Given the description of an element on the screen output the (x, y) to click on. 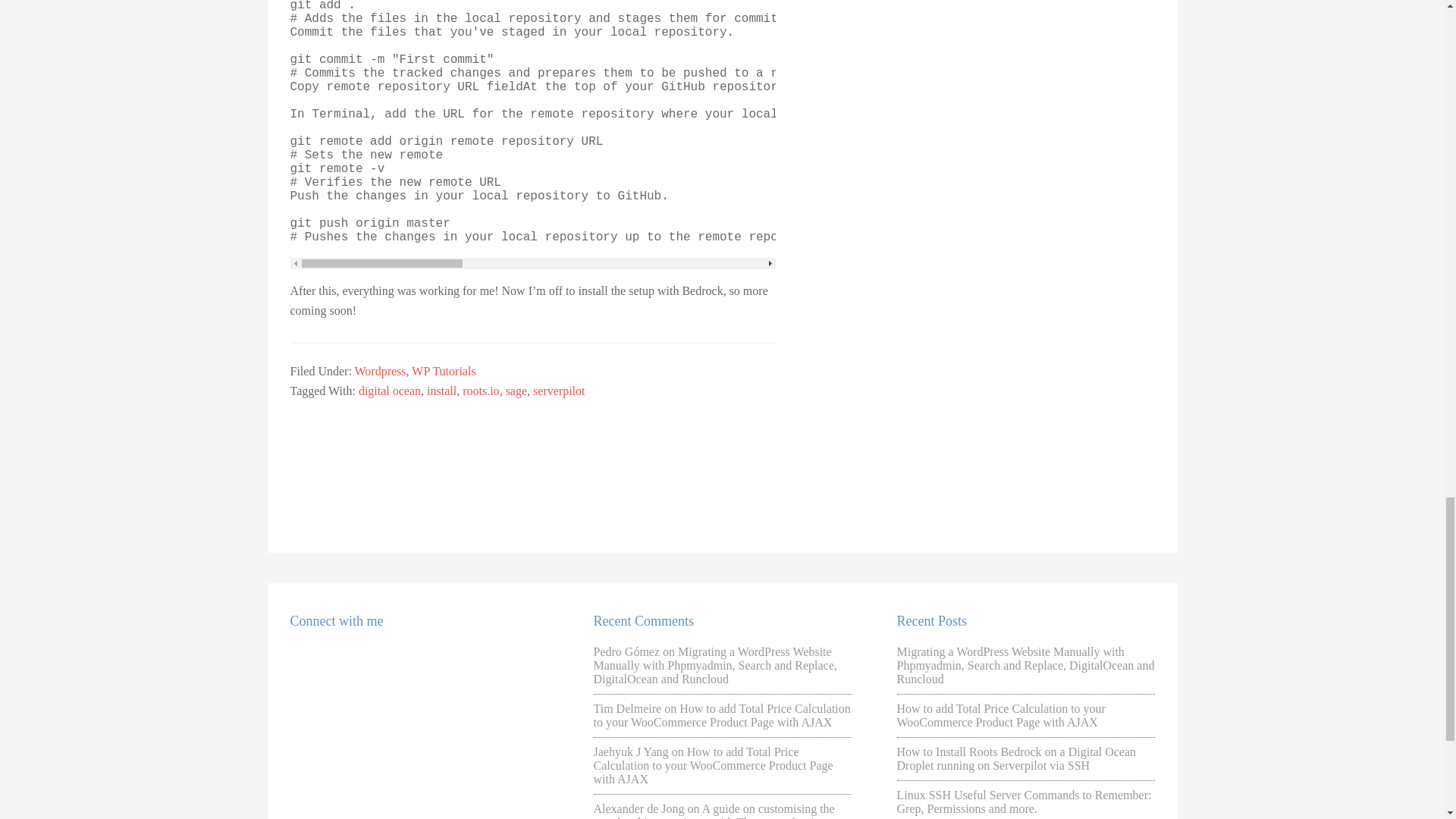
WP Tutorials (444, 370)
sage (516, 390)
digital ocean (389, 390)
Alexander de Jong (638, 808)
serverpilot (558, 390)
roots.io (481, 390)
install (441, 390)
Wordpress (380, 370)
